Given the description of an element on the screen output the (x, y) to click on. 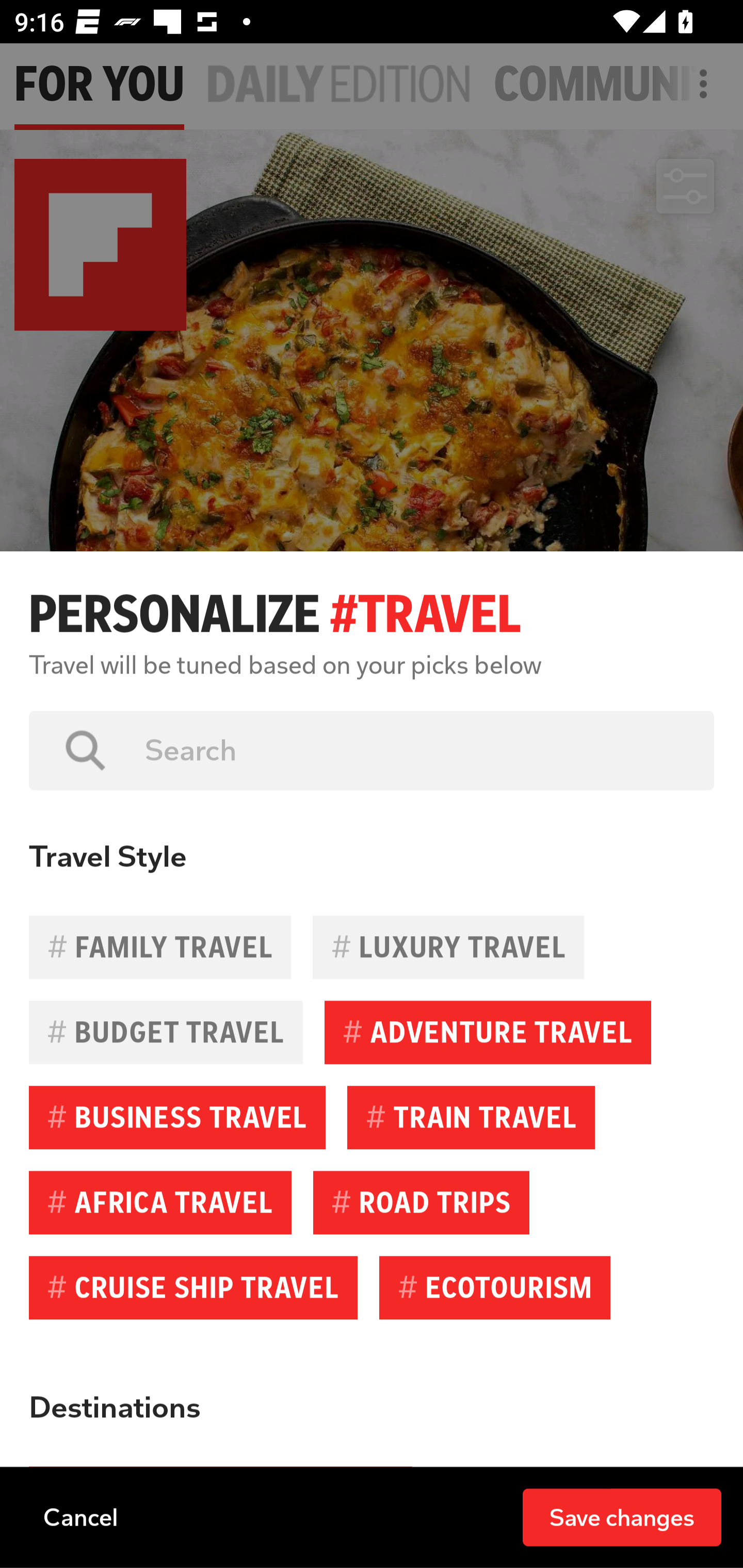
Search (414, 750)
# FAMILY TRAVEL (159, 946)
# LUXURY TRAVEL (447, 946)
# BUDGET TRAVEL (165, 1032)
# ADVENTURE TRAVEL (487, 1032)
# BUSINESS TRAVEL (176, 1117)
# TRAIN TRAVEL (470, 1117)
# AFRICA TRAVEL (159, 1202)
# ROAD TRIPS (421, 1202)
# CRUISE SHIP TRAVEL (192, 1286)
# ECOTOURISM (494, 1286)
Cancel (80, 1516)
Save changes (621, 1517)
